Given the description of an element on the screen output the (x, y) to click on. 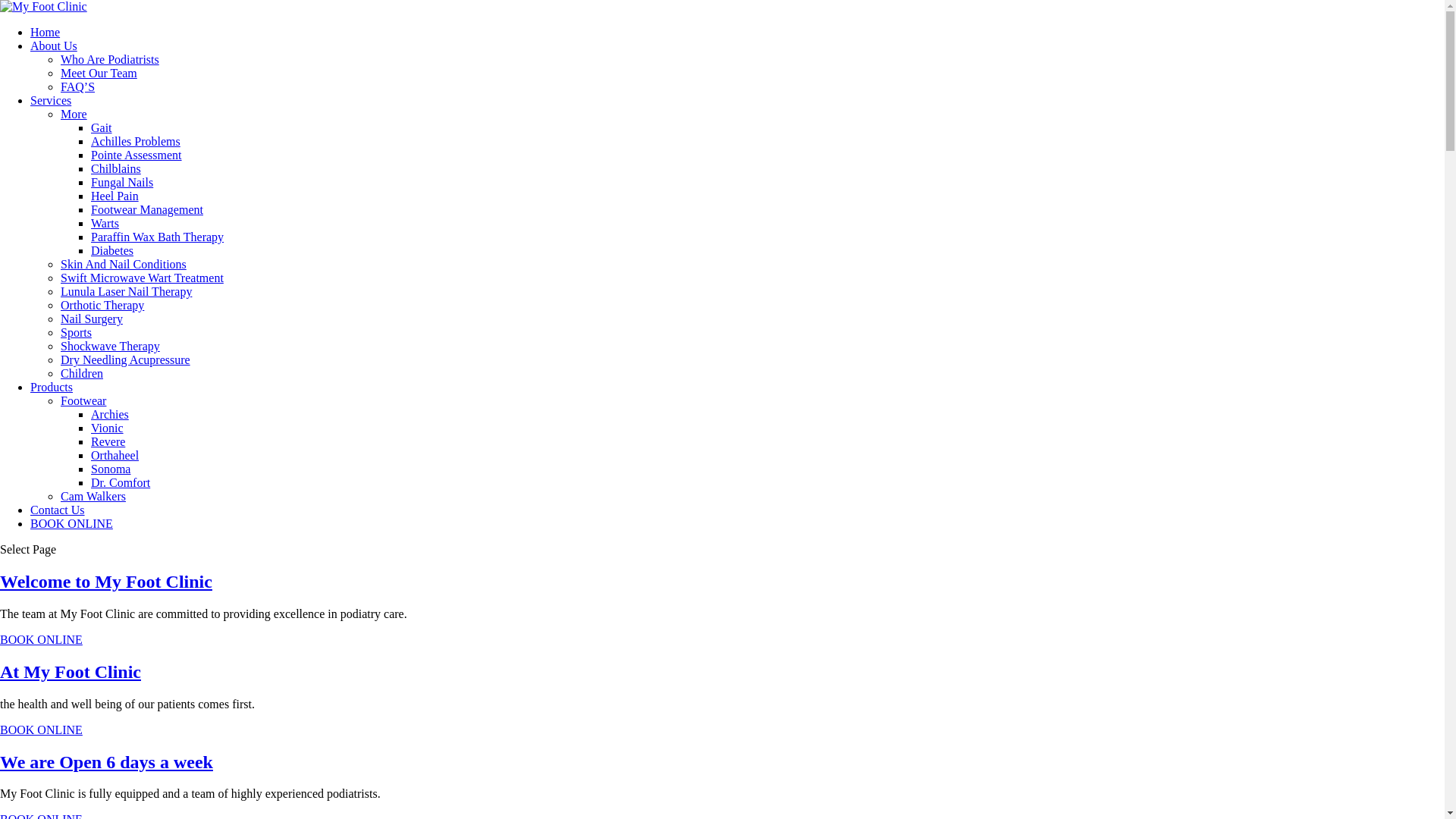
Welcome to My Foot Clinic Element type: text (106, 581)
Orthaheel Element type: text (114, 454)
Archies Element type: text (109, 413)
Home Element type: text (44, 31)
Meet Our Team Element type: text (98, 72)
Children Element type: text (81, 373)
Gait Element type: text (101, 127)
More Element type: text (73, 113)
BOOK ONLINE Element type: text (41, 729)
Swift Microwave Wart Treatment Element type: text (141, 277)
Footwear Management Element type: text (147, 209)
Achilles Problems Element type: text (135, 140)
Sonoma Element type: text (110, 468)
Revere Element type: text (108, 441)
Diabetes Element type: text (112, 250)
At My Foot Clinic Element type: text (70, 671)
Chilblains Element type: text (116, 168)
Warts Element type: text (105, 222)
Pointe Assessment Element type: text (136, 154)
Vionic Element type: text (107, 427)
Dry Needling Acupressure Element type: text (125, 359)
Dr. Comfort Element type: text (120, 482)
Orthotic Therapy Element type: text (102, 304)
Fungal Nails Element type: text (122, 181)
Skin And Nail Conditions Element type: text (123, 263)
Products Element type: text (51, 386)
Heel Pain Element type: text (114, 195)
Nail Surgery Element type: text (91, 318)
About Us Element type: text (53, 45)
Contact Us Element type: text (57, 509)
Shockwave Therapy Element type: text (110, 345)
Cam Walkers Element type: text (92, 495)
Lunula Laser Nail Therapy Element type: text (125, 291)
Who Are Podiatrists Element type: text (109, 59)
Footwear Element type: text (83, 400)
We are Open 6 days a week Element type: text (106, 761)
Sports Element type: text (75, 332)
Services Element type: text (50, 100)
BOOK ONLINE Element type: text (71, 523)
Paraffin Wax Bath Therapy Element type: text (157, 236)
BOOK ONLINE Element type: text (41, 639)
